Given the description of an element on the screen output the (x, y) to click on. 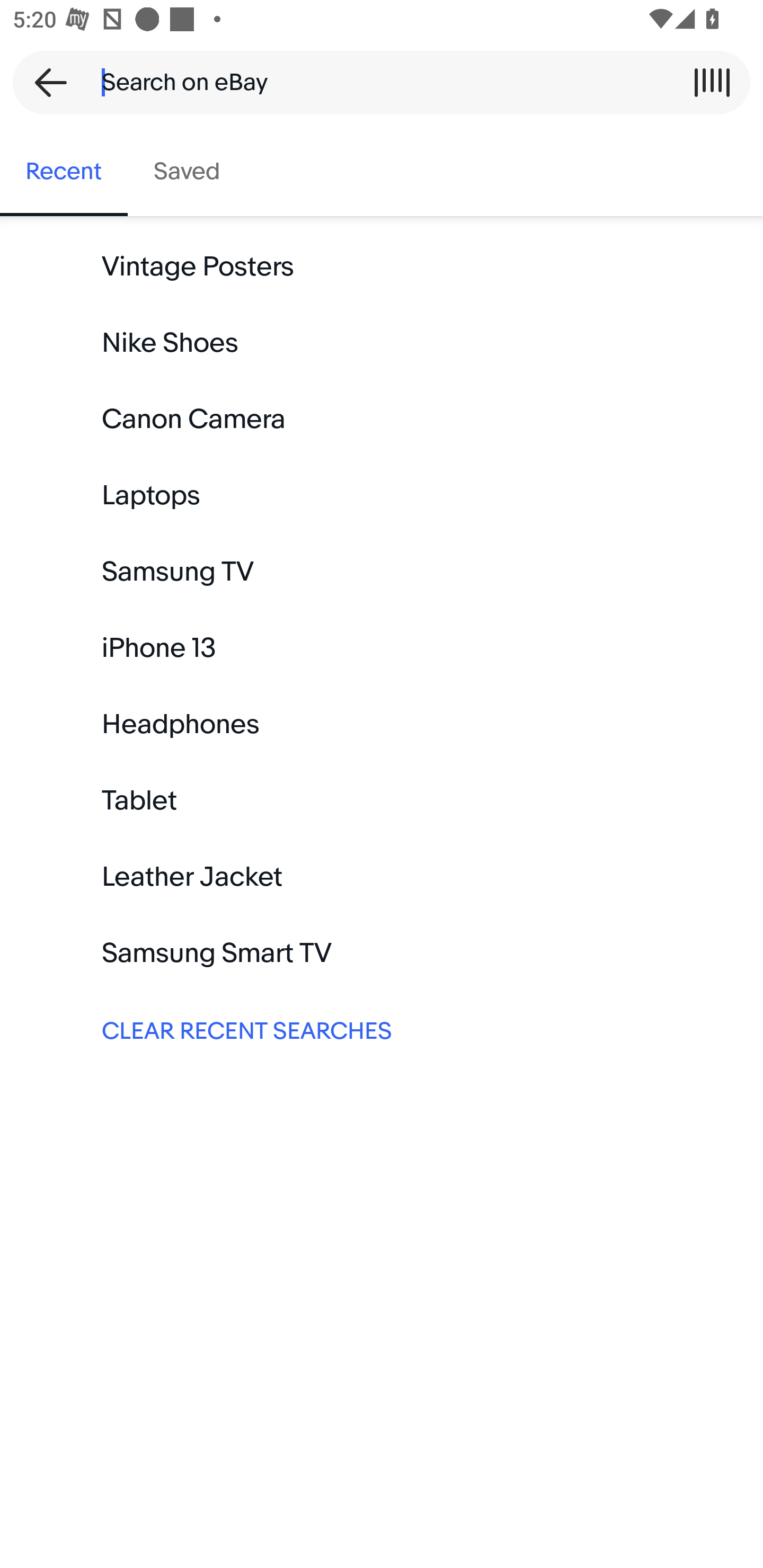
Back (44, 82)
Scan a barcode (711, 82)
Search on eBay (375, 82)
Saved, tab 2 of 2 Saved (186, 171)
Vintage Posters Keyword search Vintage Posters: (381, 266)
Nike Shoes Keyword search Nike Shoes: (381, 343)
Canon Camera Keyword search Canon Camera: (381, 419)
Laptops Keyword search Laptops: (381, 495)
Samsung TV Keyword search Samsung TV: (381, 571)
iPhone 13 Keyword search iPhone 13: (381, 647)
Headphones Keyword search Headphones: (381, 724)
Tablet Keyword search Tablet: (381, 800)
Leather Jacket Keyword search Leather Jacket: (381, 876)
Samsung Smart TV Keyword search Samsung Smart TV: (381, 952)
CLEAR RECENT SEARCHES (381, 1028)
